Given the description of an element on the screen output the (x, y) to click on. 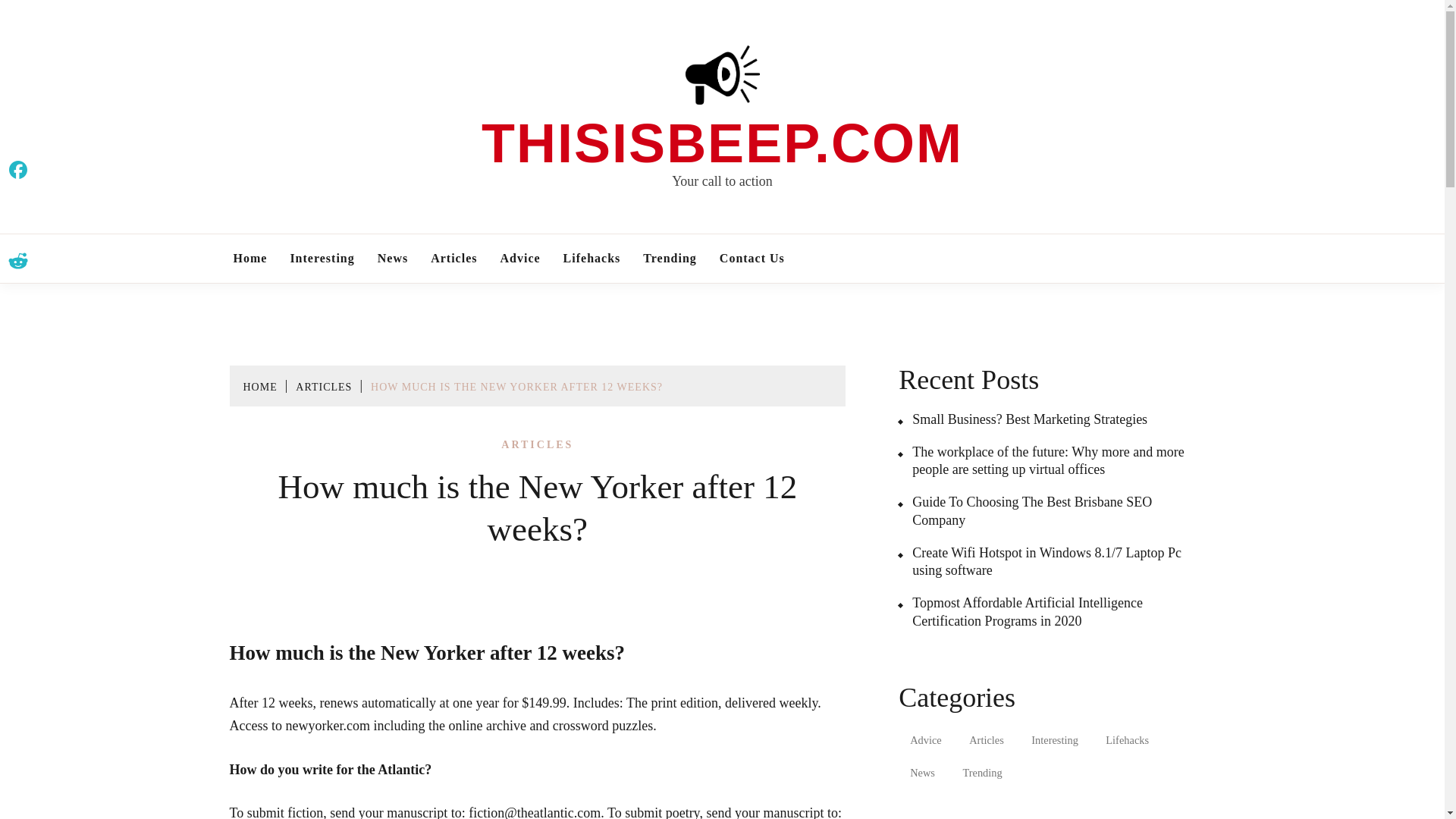
Guide To Choosing The Best Brisbane SEO Company (1050, 511)
Telegram (17, 351)
Small Business? Best Marketing Strategies (1022, 419)
Trending (981, 773)
THISISBEEP.COM (721, 143)
Messenger (17, 321)
Interesting (1054, 740)
Lifehacks (1127, 740)
HOME (259, 387)
News (922, 773)
Email (17, 230)
HOW MUCH IS THE NEW YORKER AFTER 12 WEEKS? (516, 387)
ARTICLES (323, 387)
WhatsApp (17, 291)
